Given the description of an element on the screen output the (x, y) to click on. 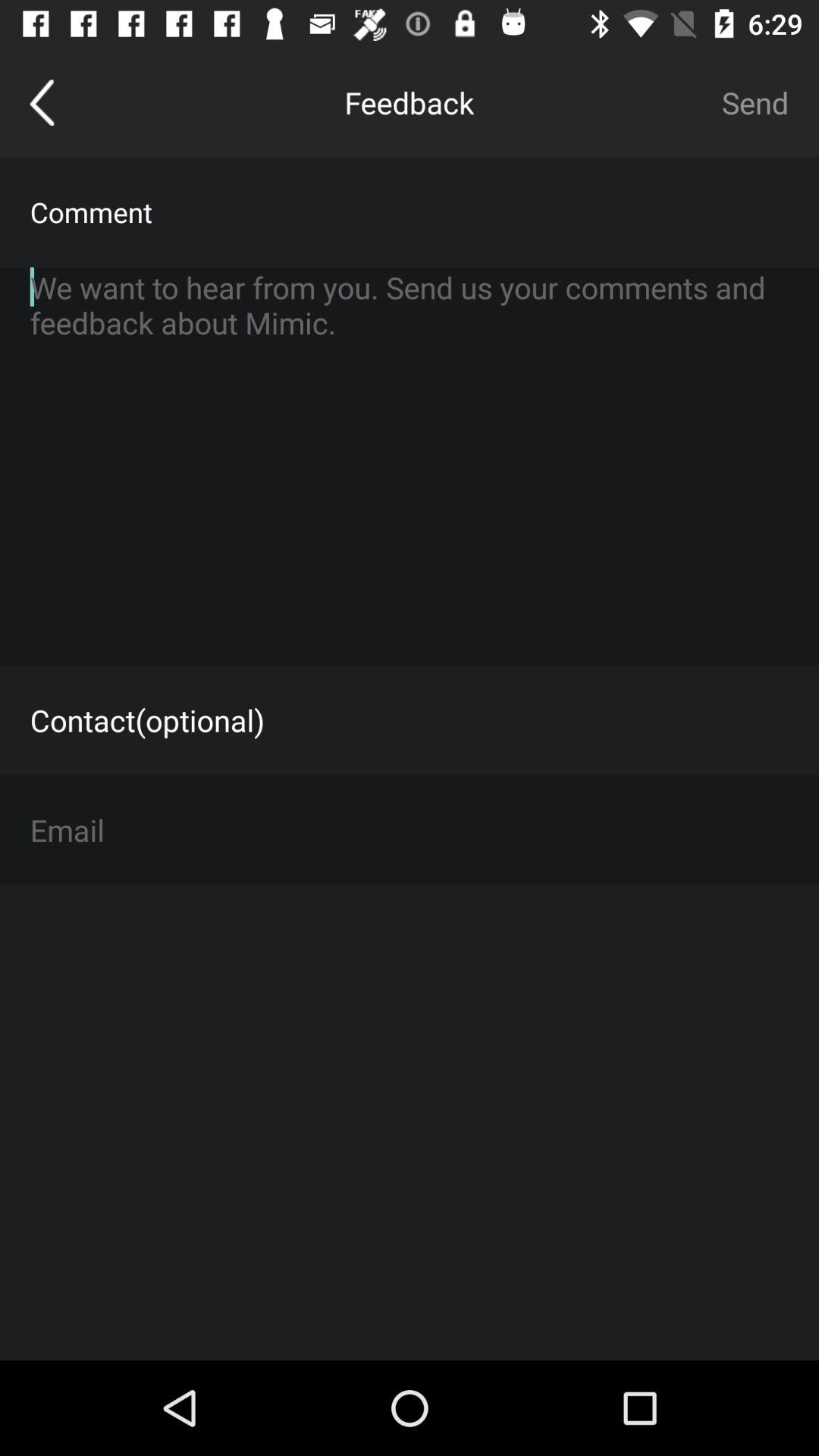
turn on the item at the top left corner (42, 102)
